Given the description of an element on the screen output the (x, y) to click on. 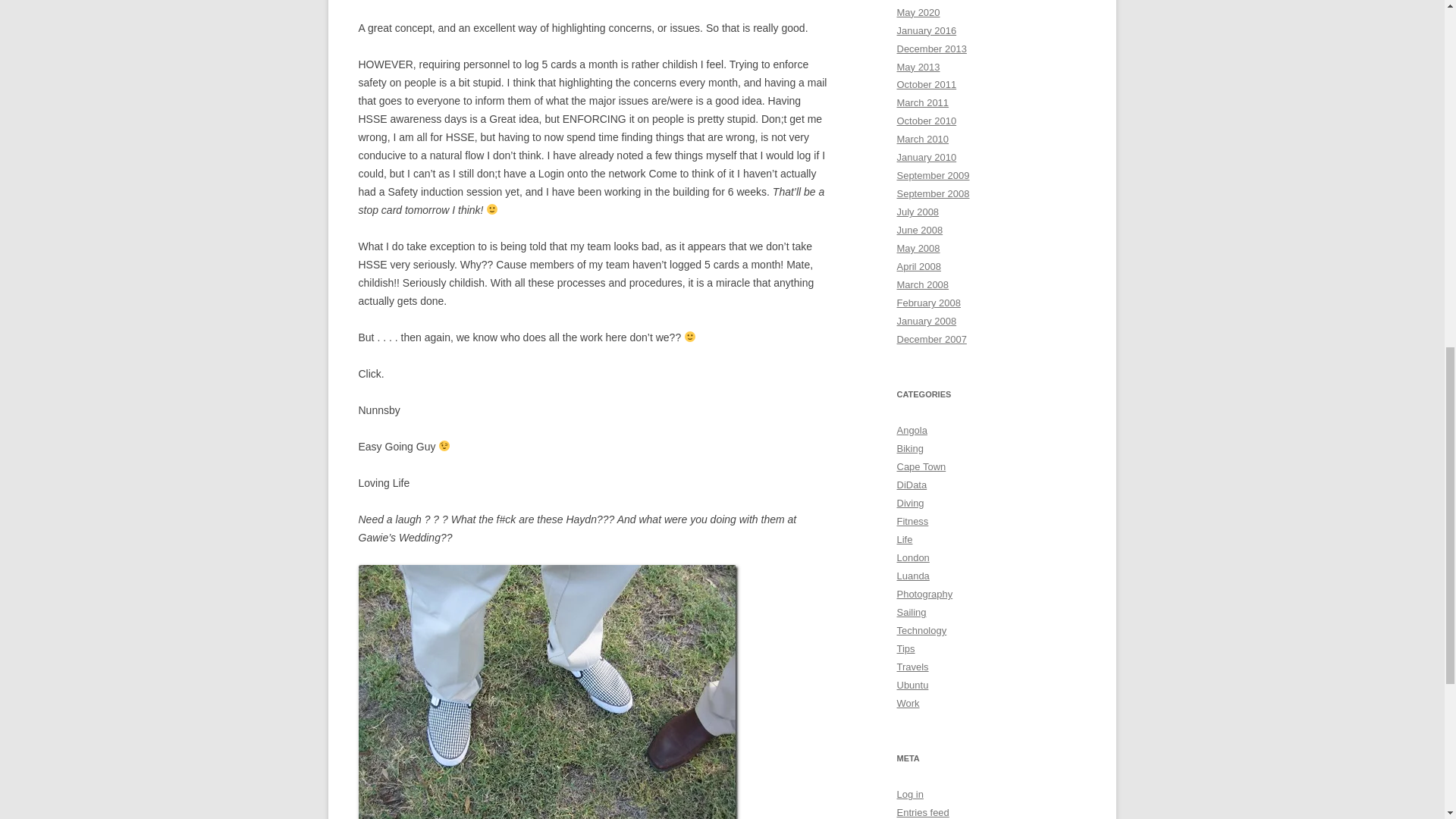
October 2010 (926, 120)
March 2011 (922, 102)
May 2013 (917, 66)
October 2011 (926, 84)
May 2020 (917, 12)
December 2013 (931, 48)
March 2010 (922, 138)
January 2016 (926, 30)
